Given the description of an element on the screen output the (x, y) to click on. 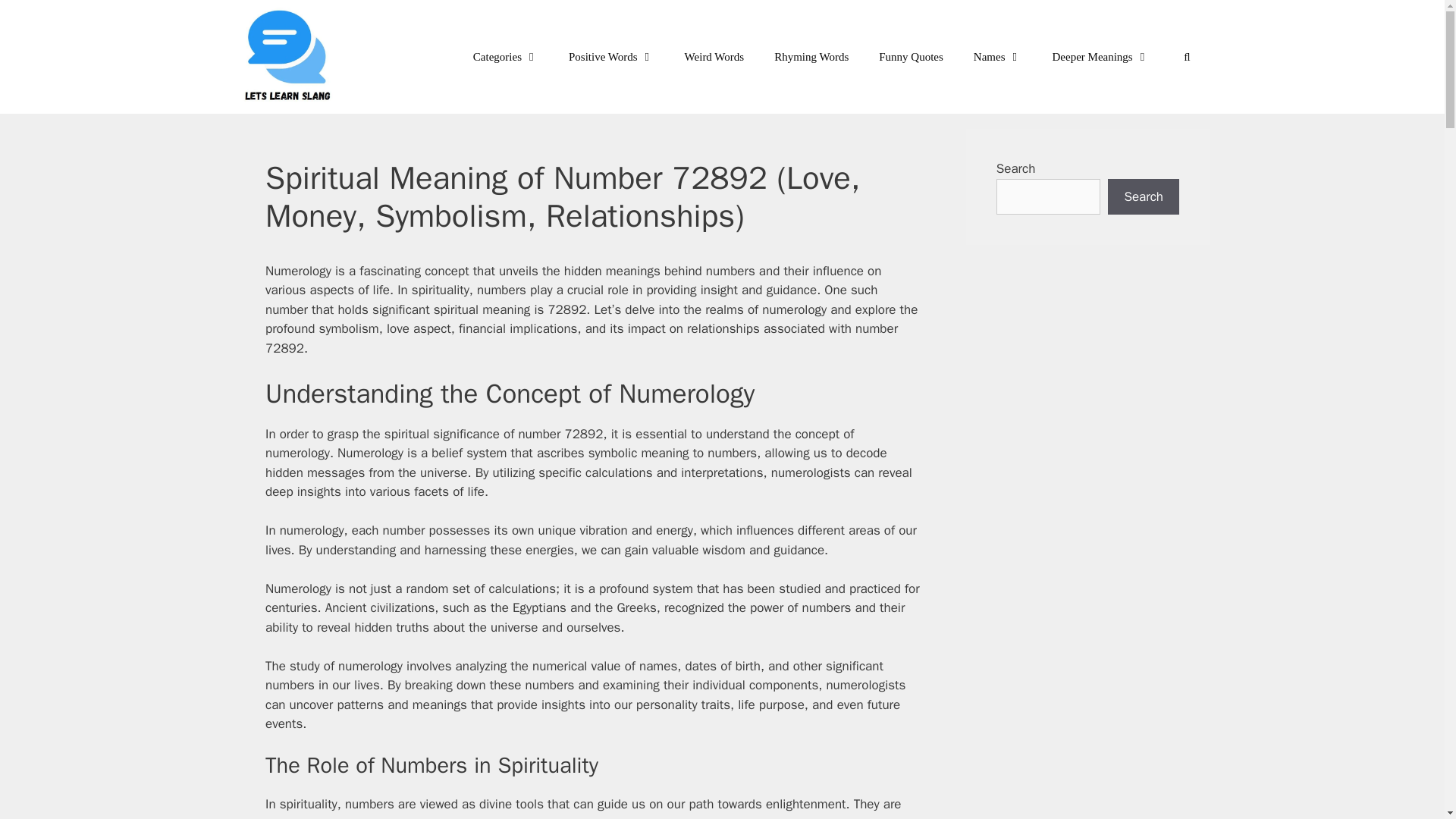
Rhyming Words (810, 56)
Funny Quotes (910, 56)
Lets Learn Slang (292, 56)
Categories (505, 56)
Positive Words (611, 56)
Names (997, 56)
Weird Words (714, 56)
Lets Learn Slang (288, 56)
